Given the description of an element on the screen output the (x, y) to click on. 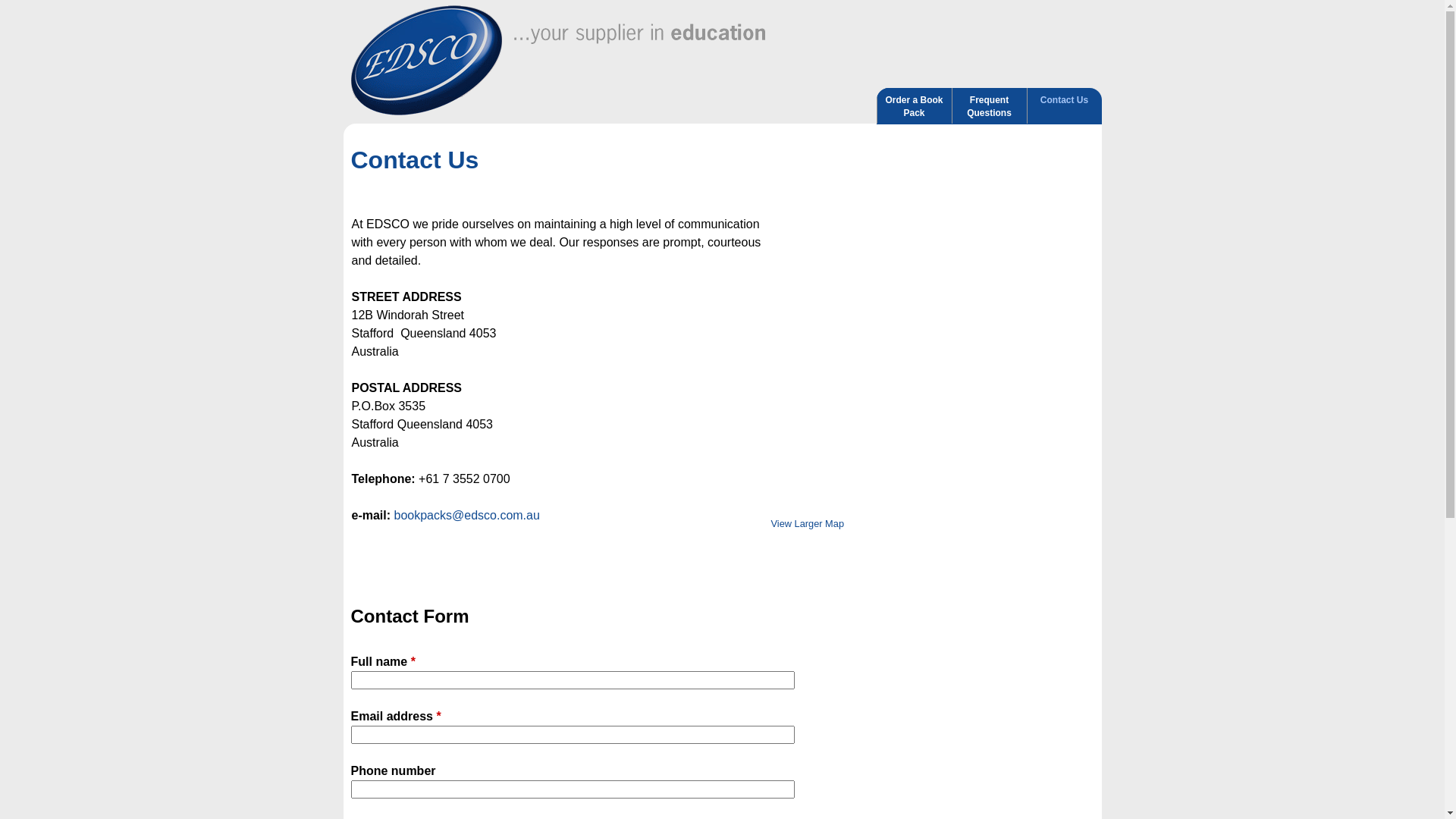
View Larger Map Element type: text (807, 523)
Order a Book Pack Element type: text (913, 105)
bookpacks@edsco.com.au Element type: text (466, 514)
Jump to navigation Element type: text (722, 2)
Frequent Questions Element type: text (989, 105)
Home Element type: hover (425, 60)
Contact Us Element type: text (1063, 105)
